Given the description of an element on the screen output the (x, y) to click on. 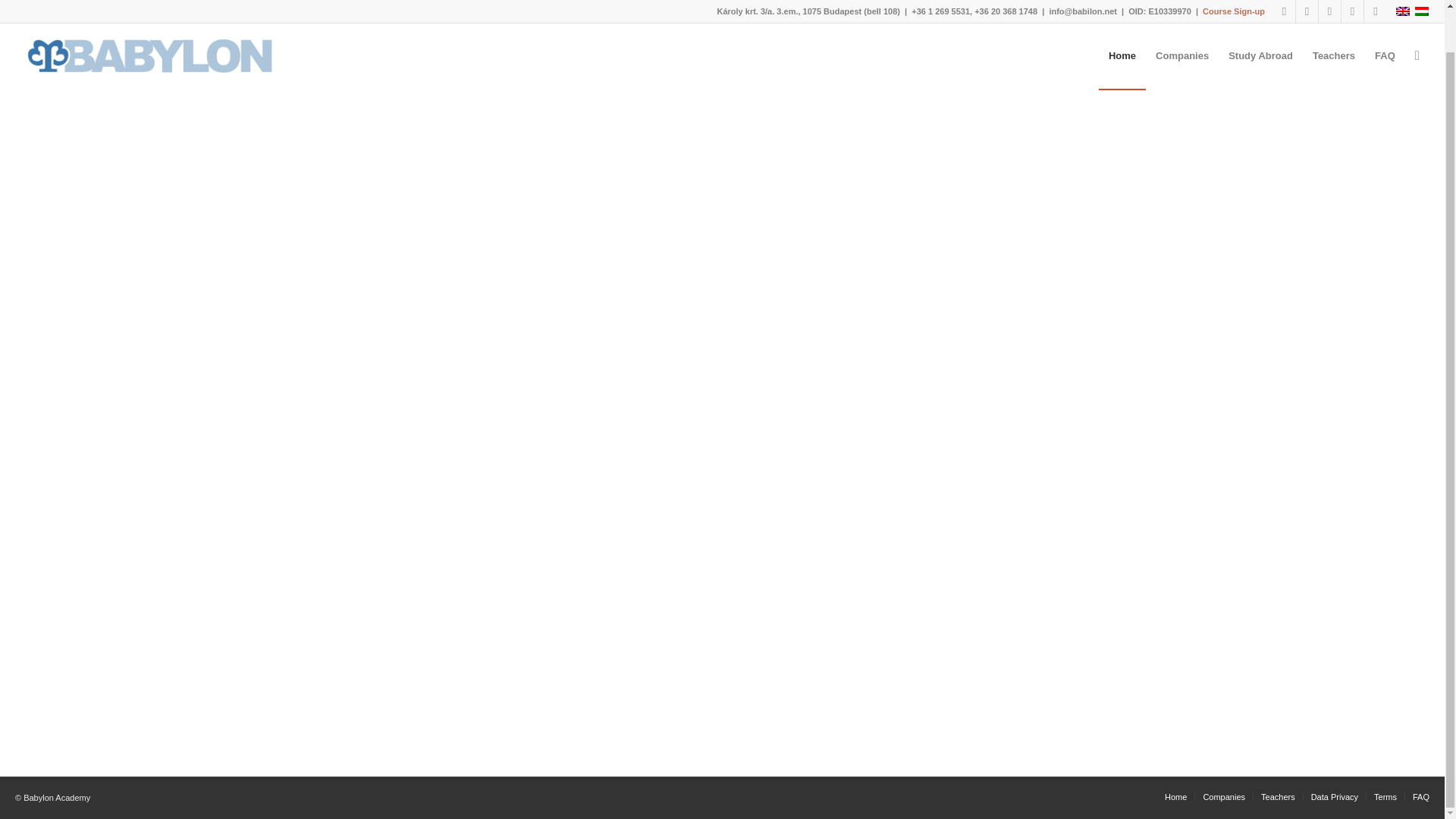
Home (1122, 22)
Companies (1181, 22)
Teachers (1334, 22)
Study Abroad (1260, 22)
